Given the description of an element on the screen output the (x, y) to click on. 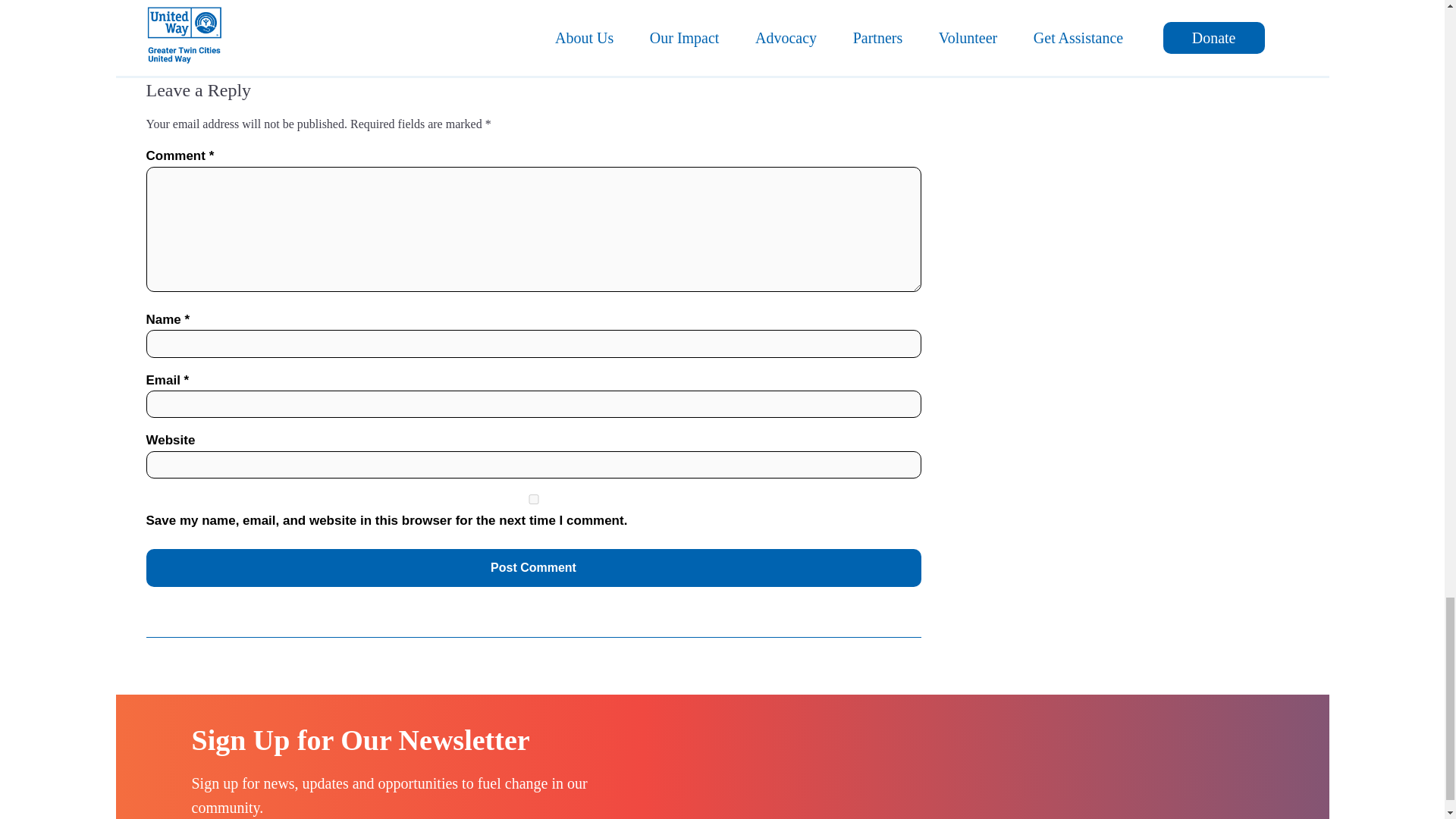
Post Comment (532, 567)
Post Comment (532, 567)
yes (532, 499)
